Given the description of an element on the screen output the (x, y) to click on. 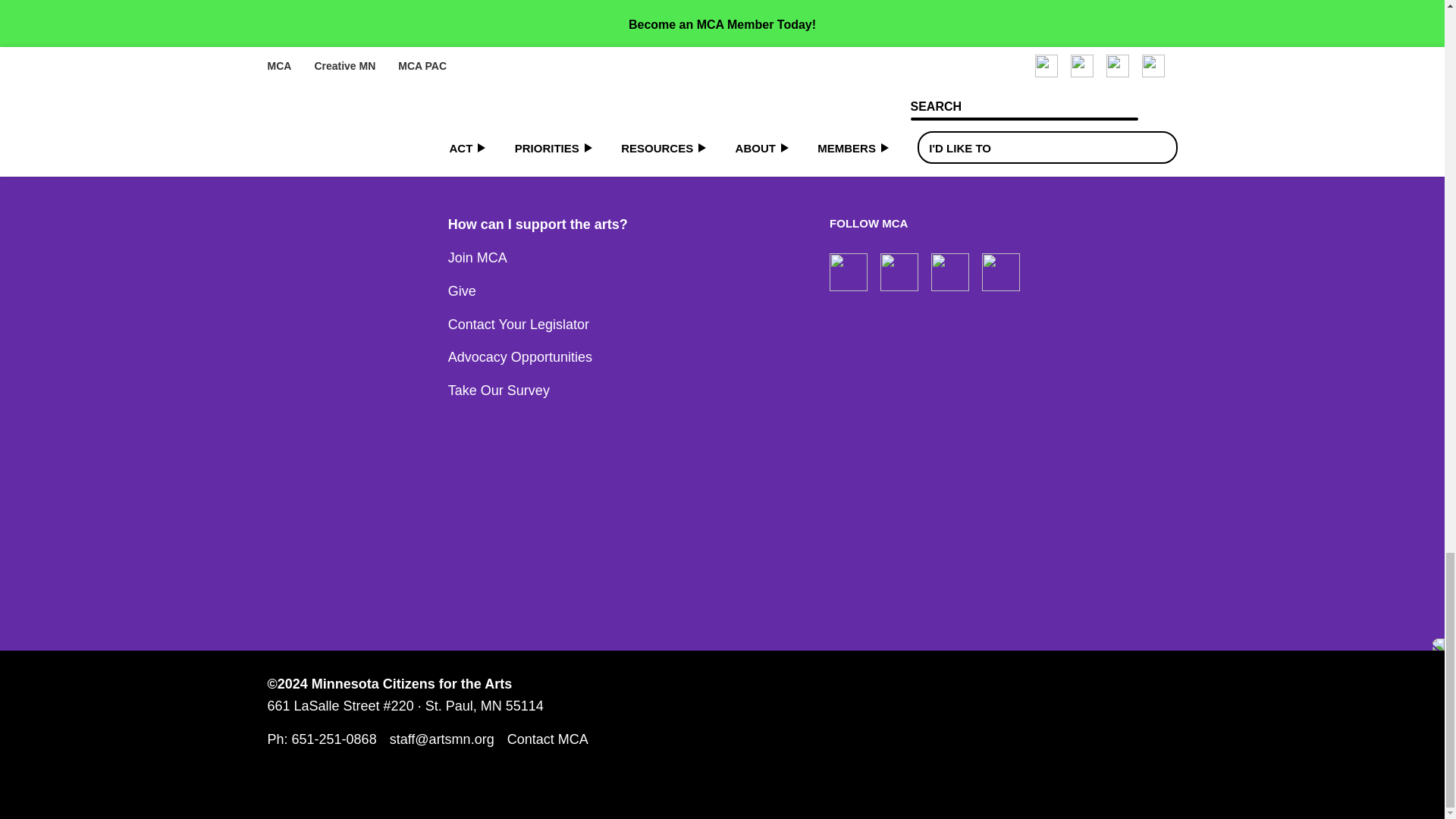
YouTube (950, 272)
YouTube video player (478, 28)
Facebook (848, 272)
Twitter (1000, 272)
Instagram (899, 272)
